Given the description of an element on the screen output the (x, y) to click on. 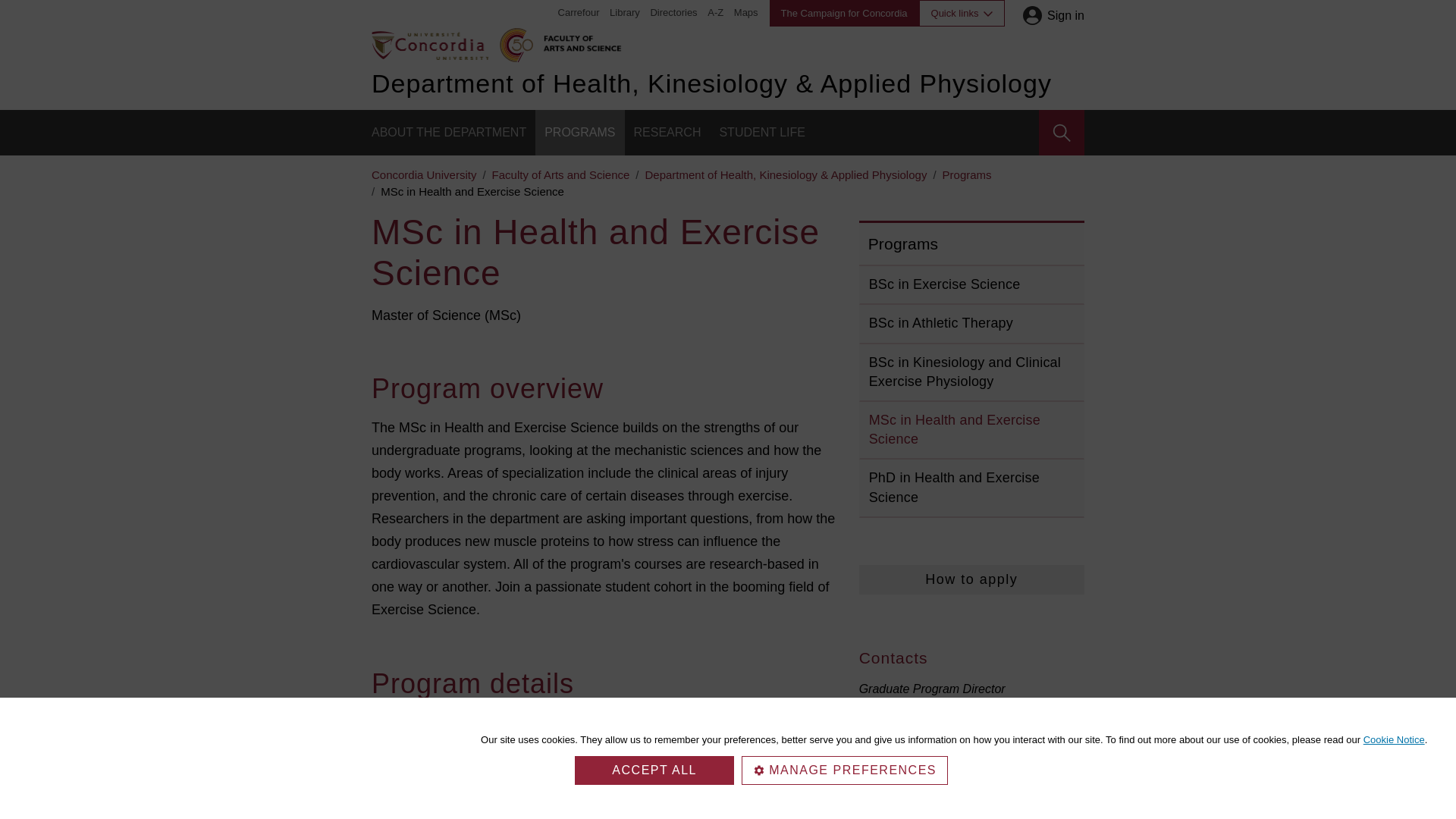
Back to home (429, 44)
Carrefour (578, 12)
Cookie Notice (1393, 739)
ACCEPT ALL (654, 769)
MANAGE PREFERENCES (844, 769)
Library (625, 12)
Faculty of Arts and Science (579, 41)
